Given the description of an element on the screen output the (x, y) to click on. 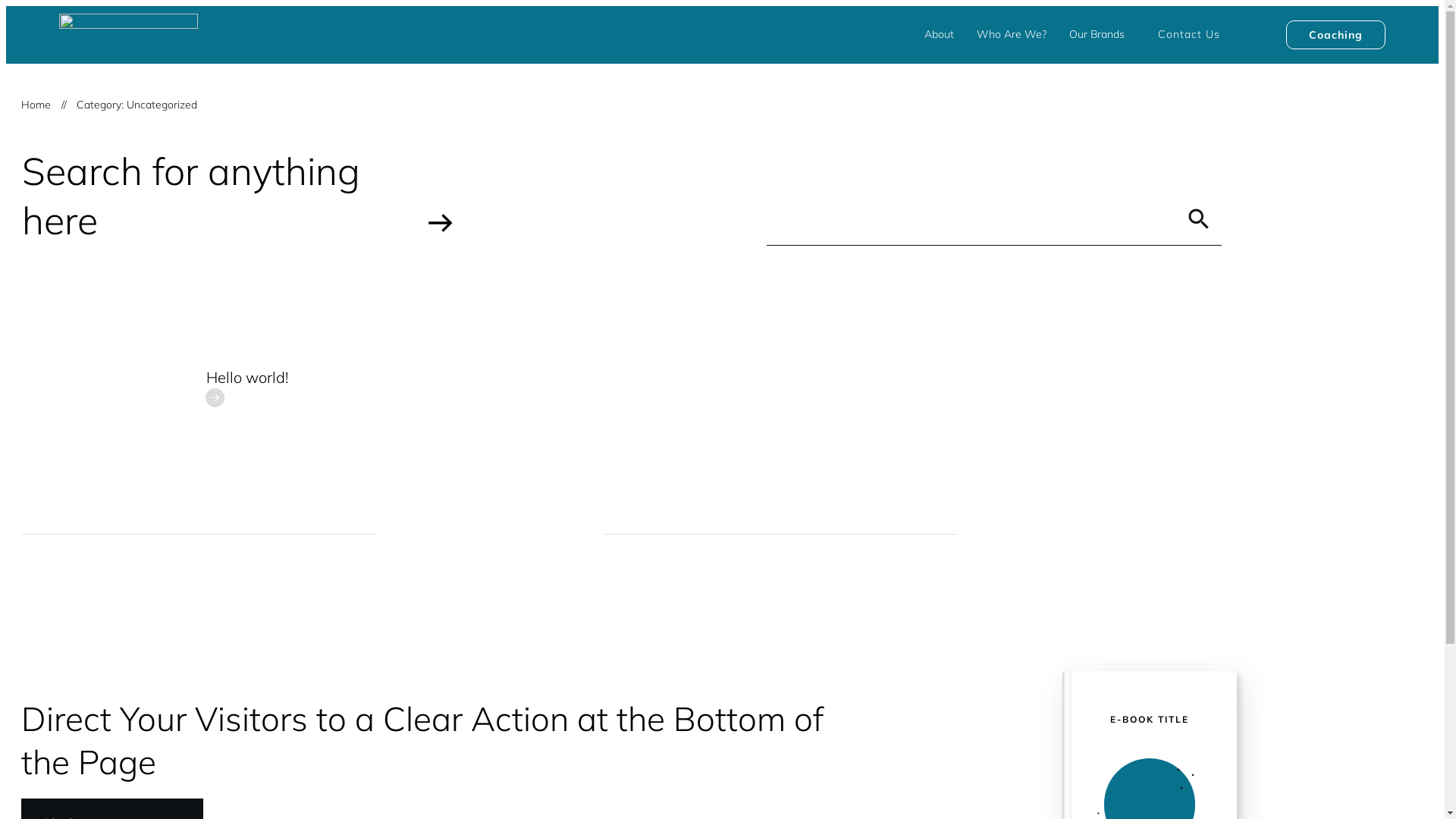
Our Brands Element type: text (1096, 34)
Hello world! Element type: text (247, 376)
About Element type: text (938, 34)
Home Element type: text (35, 104)
Coaching Element type: text (1335, 35)
Contact Us Element type: text (1188, 34)
Who Are We? Element type: text (1011, 34)
